Given the description of an element on the screen output the (x, y) to click on. 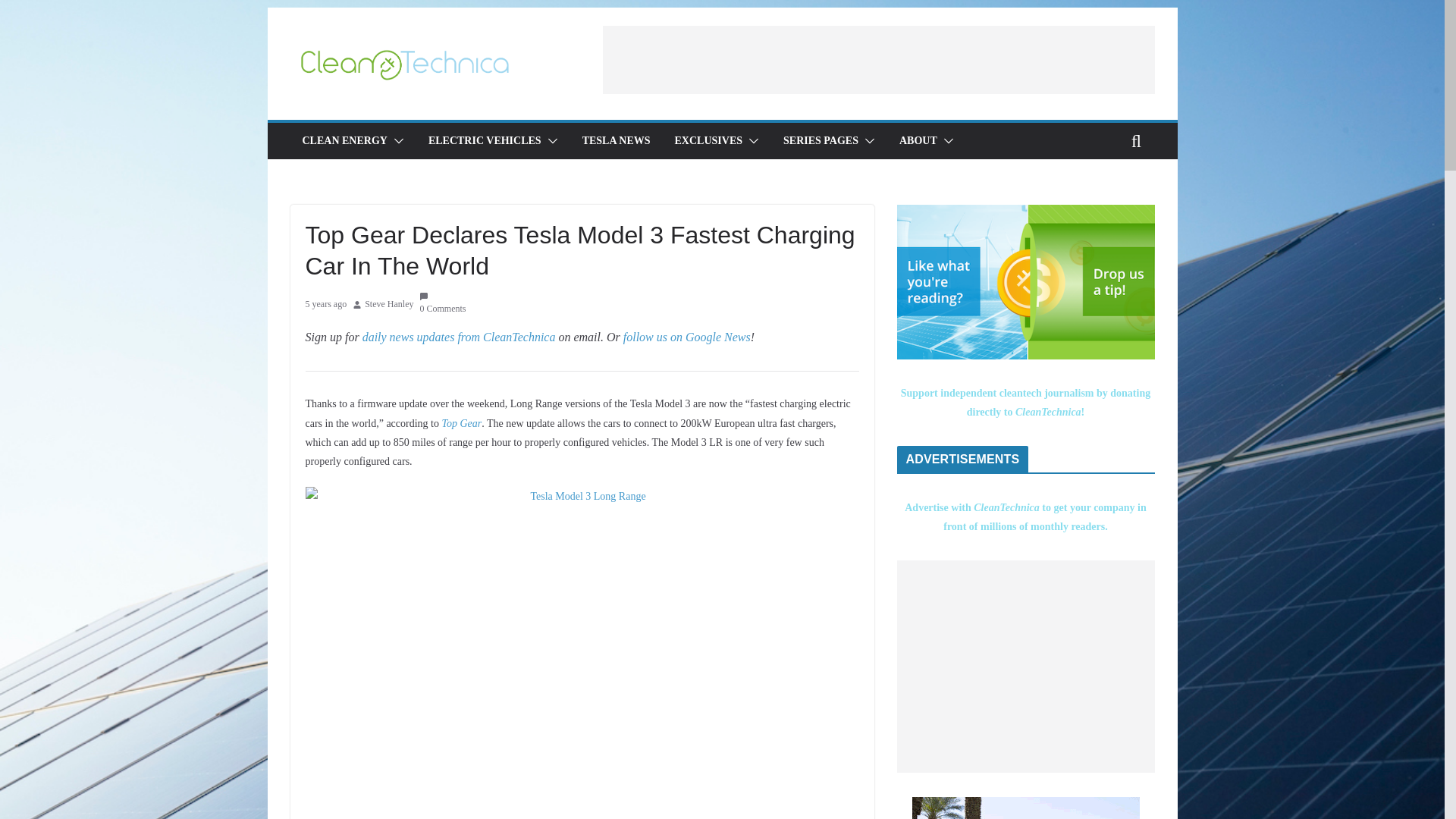
Advertisement (1025, 666)
ELECTRIC VEHICLES (484, 140)
Steve Hanley (389, 304)
CLEAN ENERGY (344, 140)
Advertisement (878, 59)
EXCLUSIVES (708, 140)
SERIES PAGES (821, 140)
TESLA NEWS (616, 140)
